Given the description of an element on the screen output the (x, y) to click on. 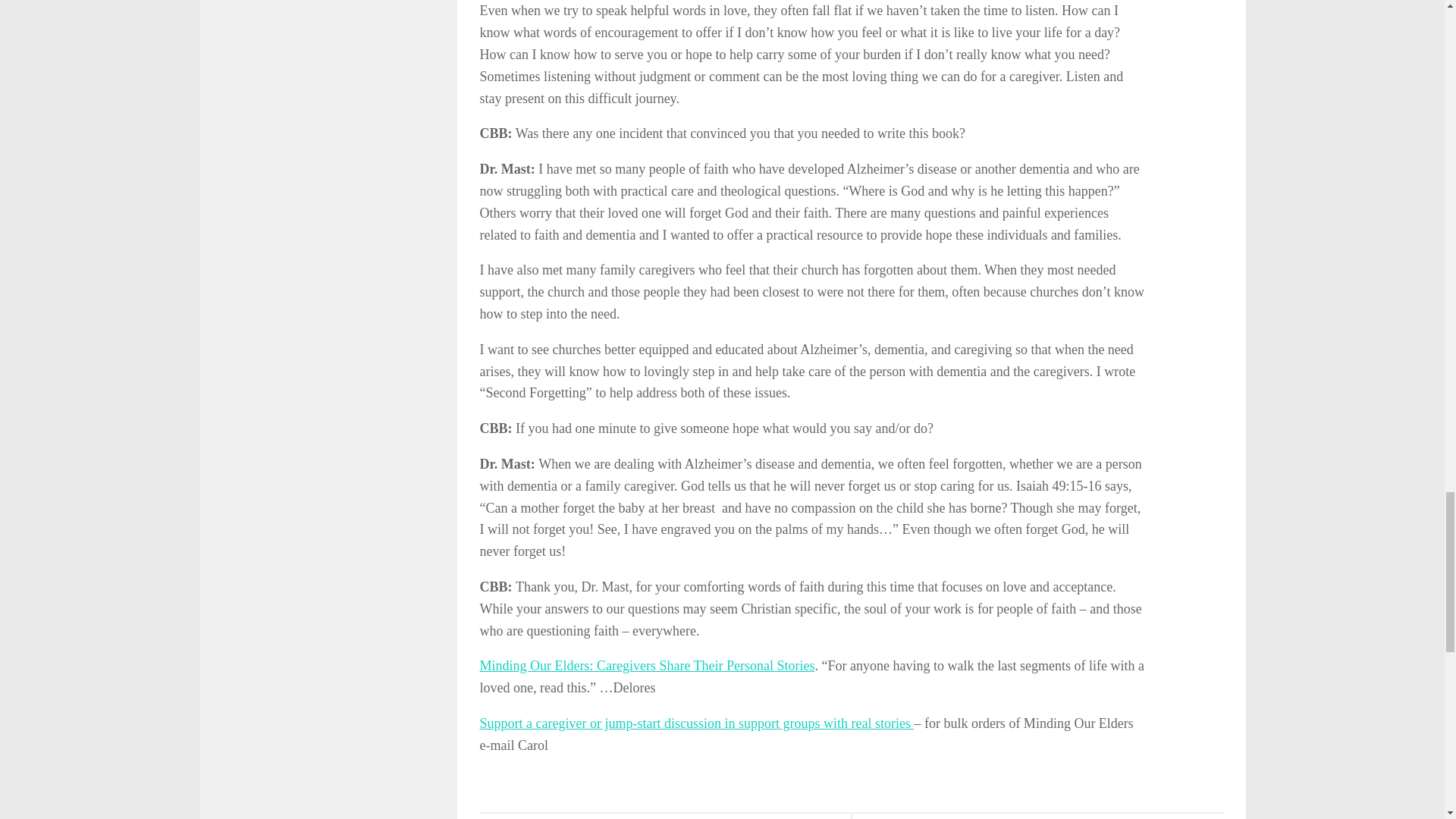
Minding Our Elders: Caregivers Share Their Personal Stories (646, 665)
